Given the description of an element on the screen output the (x, y) to click on. 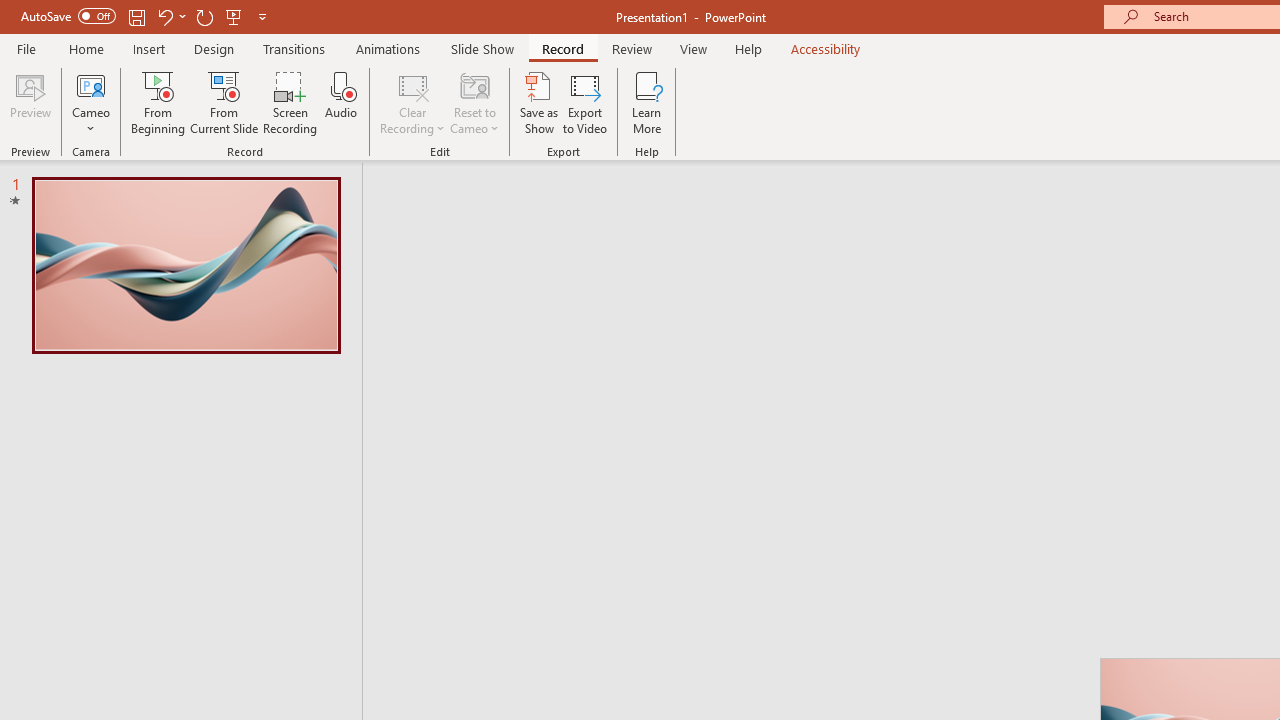
Audio (341, 102)
